Given the description of an element on the screen output the (x, y) to click on. 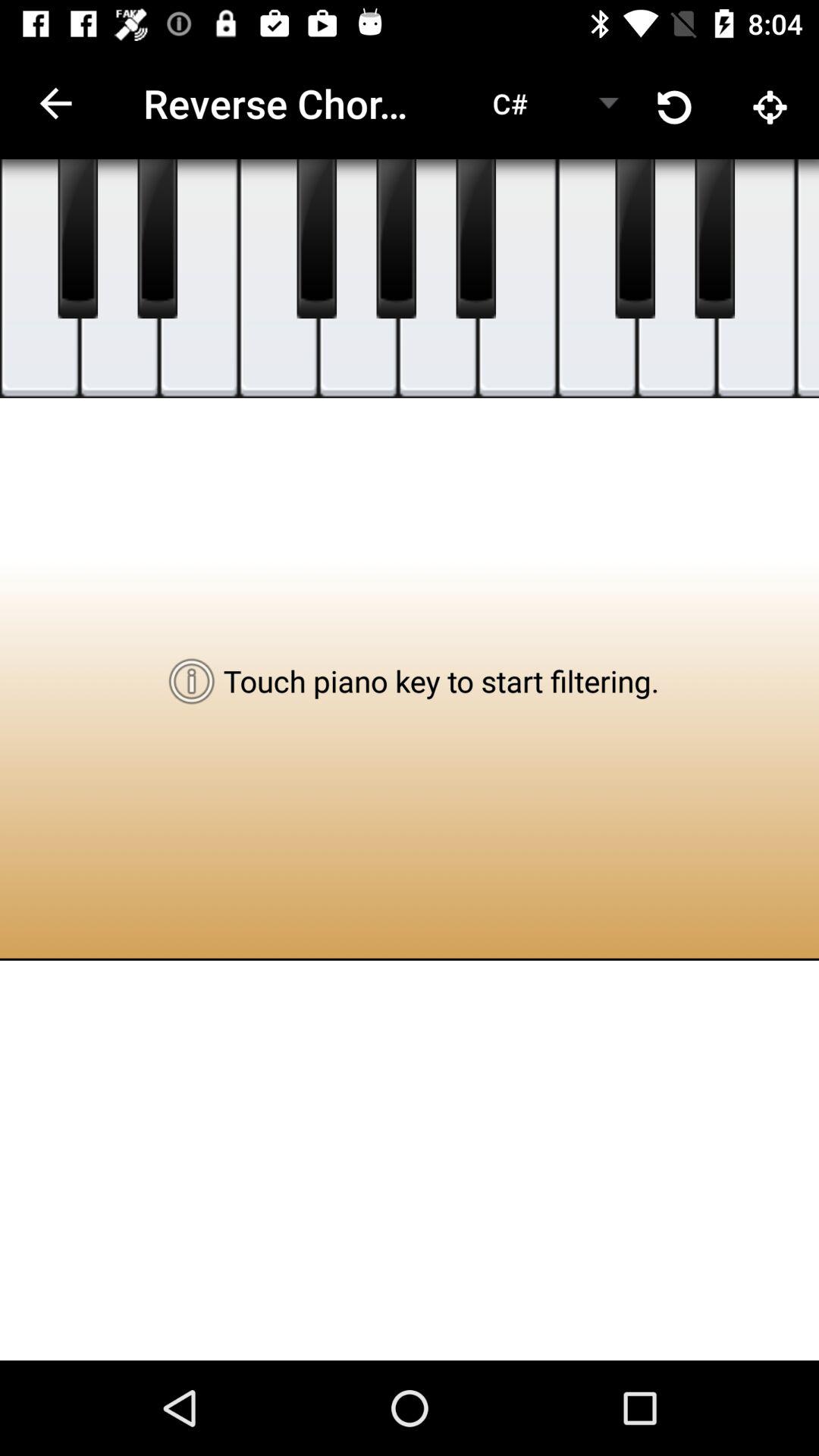
piano key play (807, 278)
